Given the description of an element on the screen output the (x, y) to click on. 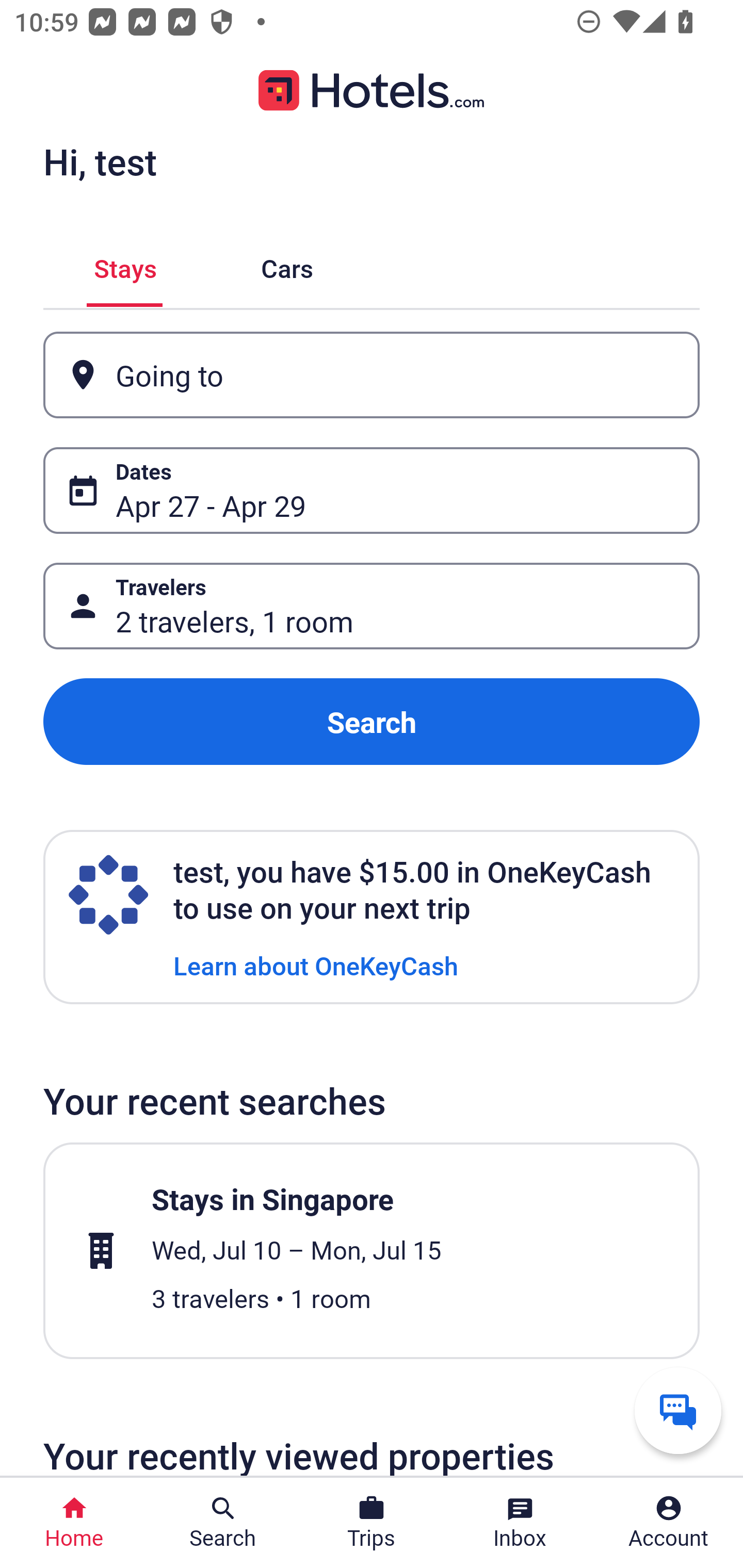
Hi, test (99, 161)
Cars (286, 265)
Going to Button (371, 375)
Dates Button Apr 27 - Apr 29 (371, 489)
Travelers Button 2 travelers, 1 room (371, 605)
Search (371, 721)
Learn about OneKeyCash Learn about OneKeyCash Link (315, 964)
Get help from a virtual agent (677, 1410)
Search Search Button (222, 1522)
Trips Trips Button (371, 1522)
Inbox Inbox Button (519, 1522)
Account Profile. Button (668, 1522)
